Given the description of an element on the screen output the (x, y) to click on. 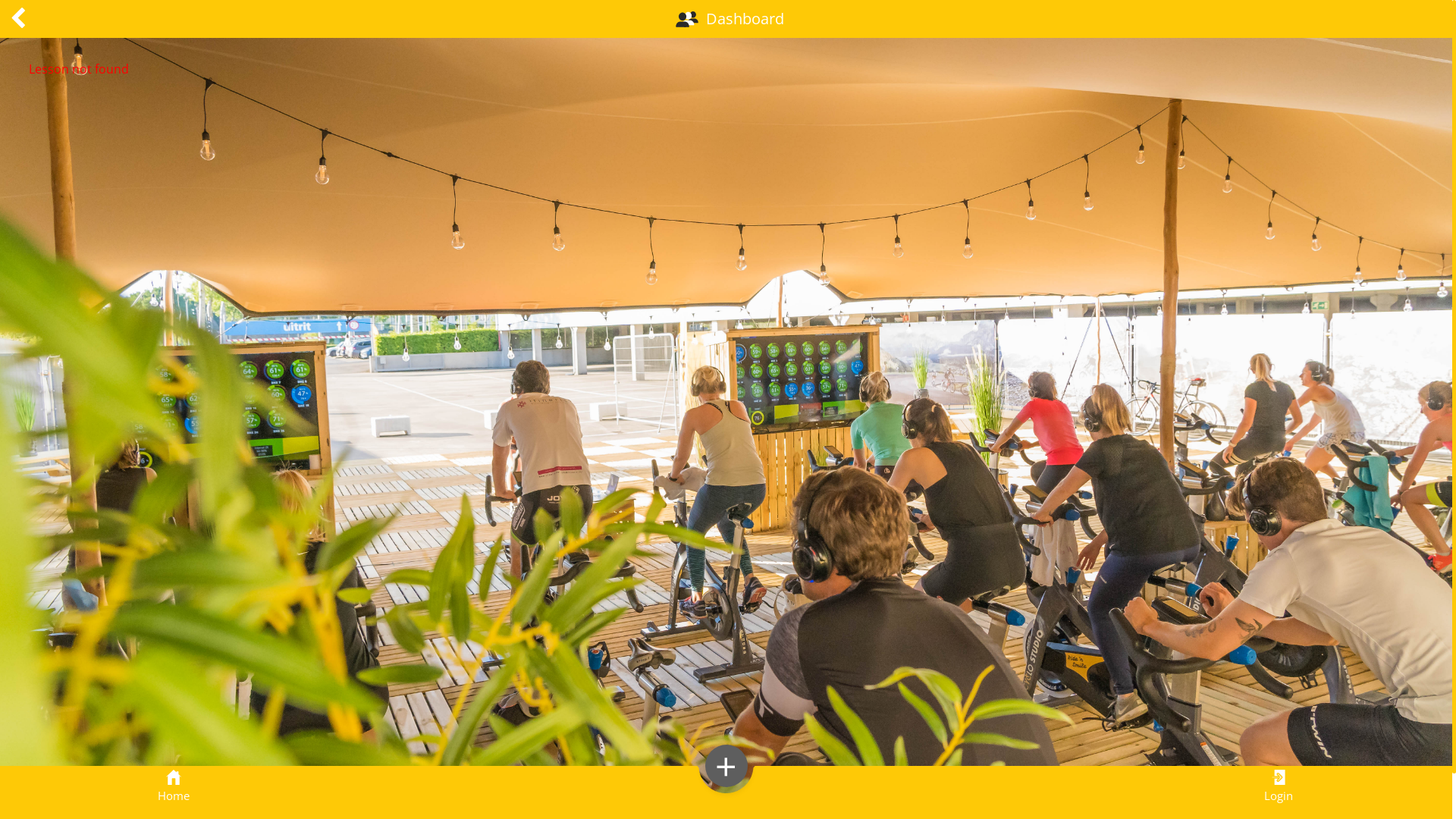
+ Element type: text (726, 765)
